Given the description of an element on the screen output the (x, y) to click on. 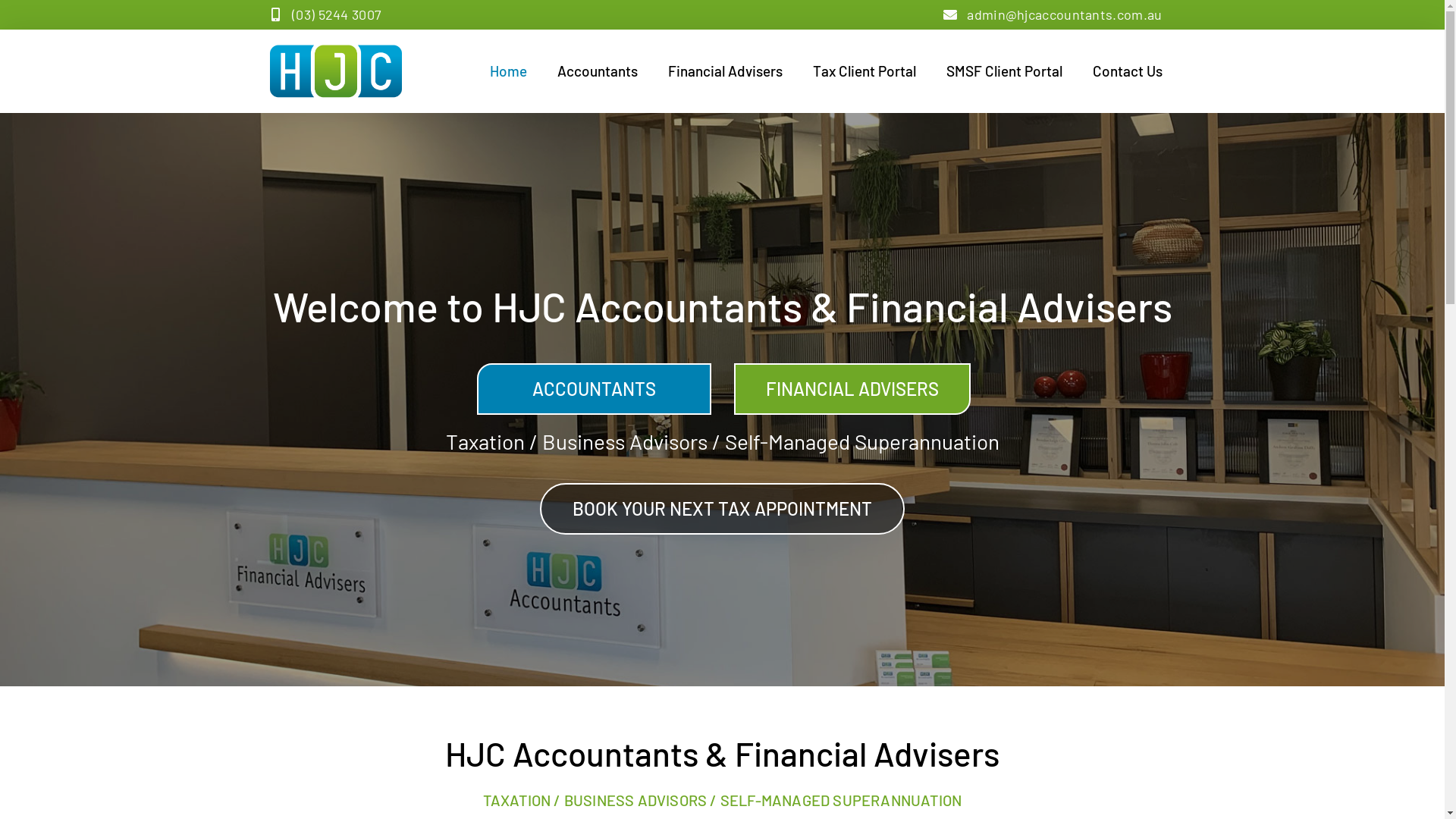
ACCOUNTANTS Element type: text (593, 388)
Accountants Element type: text (596, 71)
Contact Us Element type: text (1126, 71)
BOOK YOUR NEXT TAX APPOINTMENT Element type: text (721, 508)
Tax Client Portal Element type: text (864, 71)
SMSF Client Portal Element type: text (1004, 71)
Home Element type: text (508, 71)
FINANCIAL ADVISERS Element type: text (852, 388)
Financial Advisers Element type: text (724, 71)
